Given the description of an element on the screen output the (x, y) to click on. 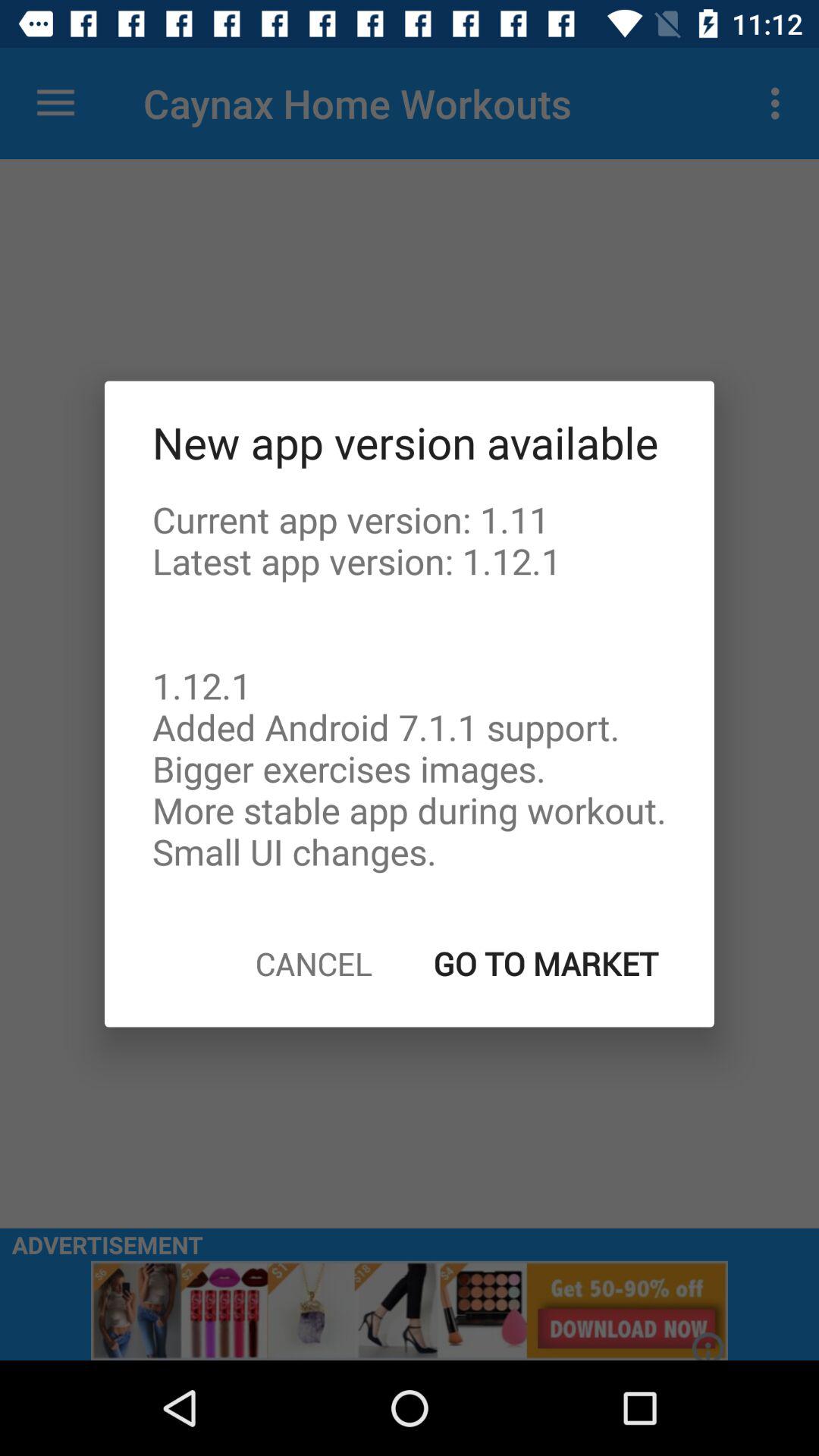
turn off icon to the left of the go to market icon (313, 963)
